Given the description of an element on the screen output the (x, y) to click on. 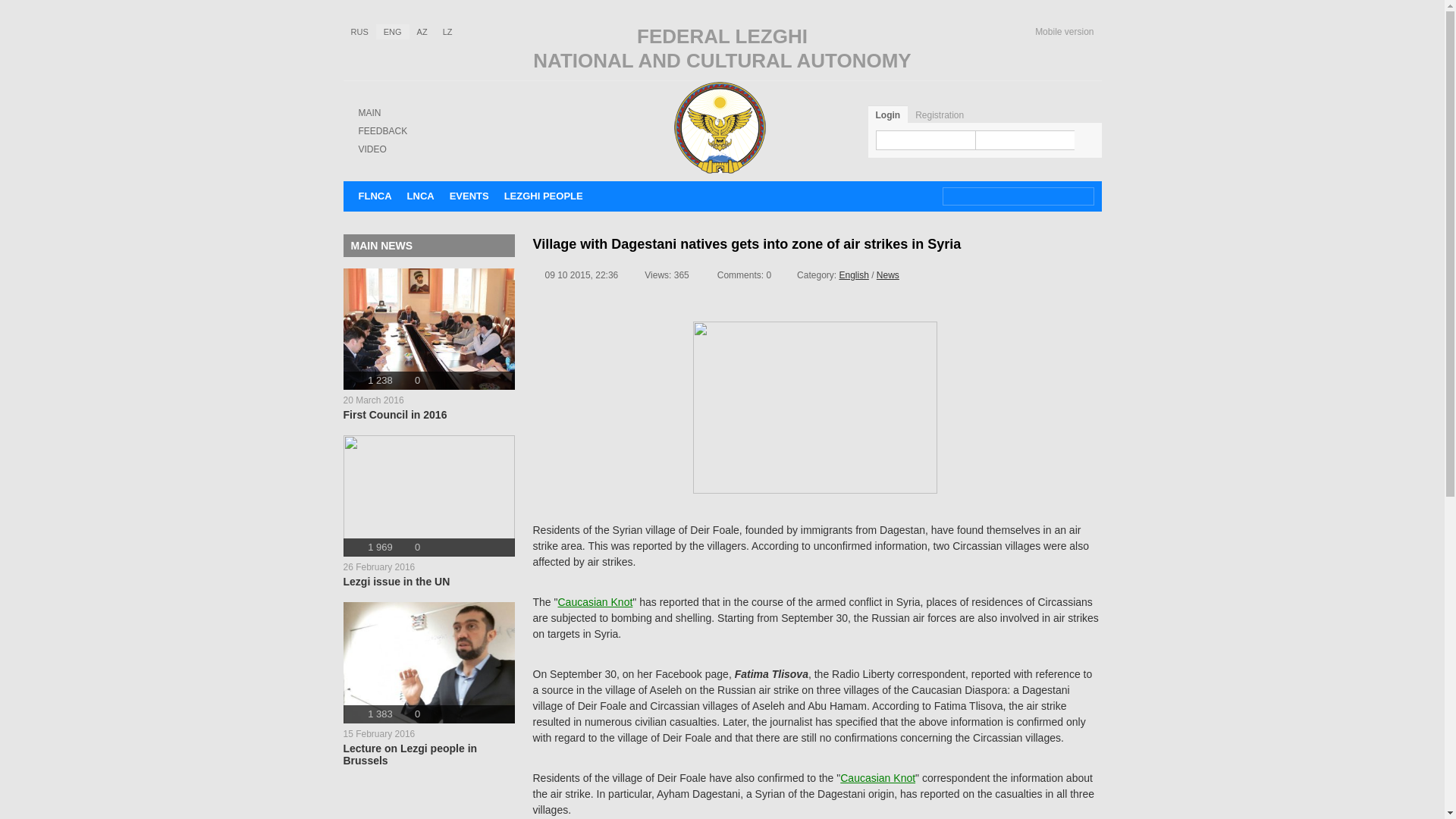
FLNCA (374, 195)
LEZGHI PEOPLE (543, 195)
AZ (422, 31)
Caucasian Knot (427, 344)
English (594, 602)
EVENTS (852, 275)
VIDEO (427, 683)
LNCA (469, 195)
Caucasian Knot (371, 149)
Mobile version (420, 195)
MAIN (877, 777)
Registration (1064, 31)
LZ (369, 112)
